Given the description of an element on the screen output the (x, y) to click on. 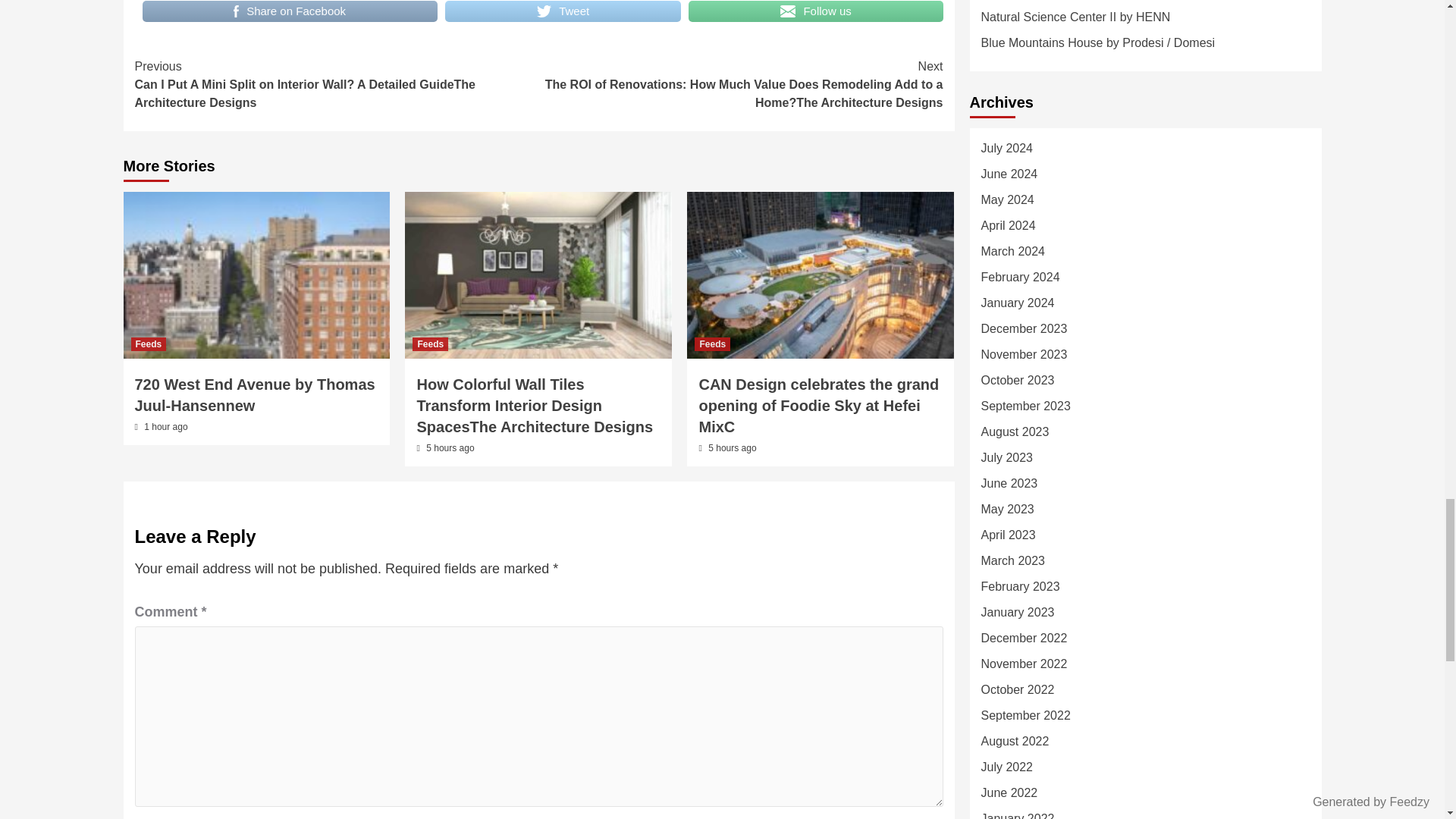
Feeds (148, 344)
720 West End Avenue by Thomas Juul-Hansennew (255, 394)
Follow us (815, 11)
1 hour ago (165, 426)
Tweet (563, 11)
Share on Facebook (290, 11)
